Given the description of an element on the screen output the (x, y) to click on. 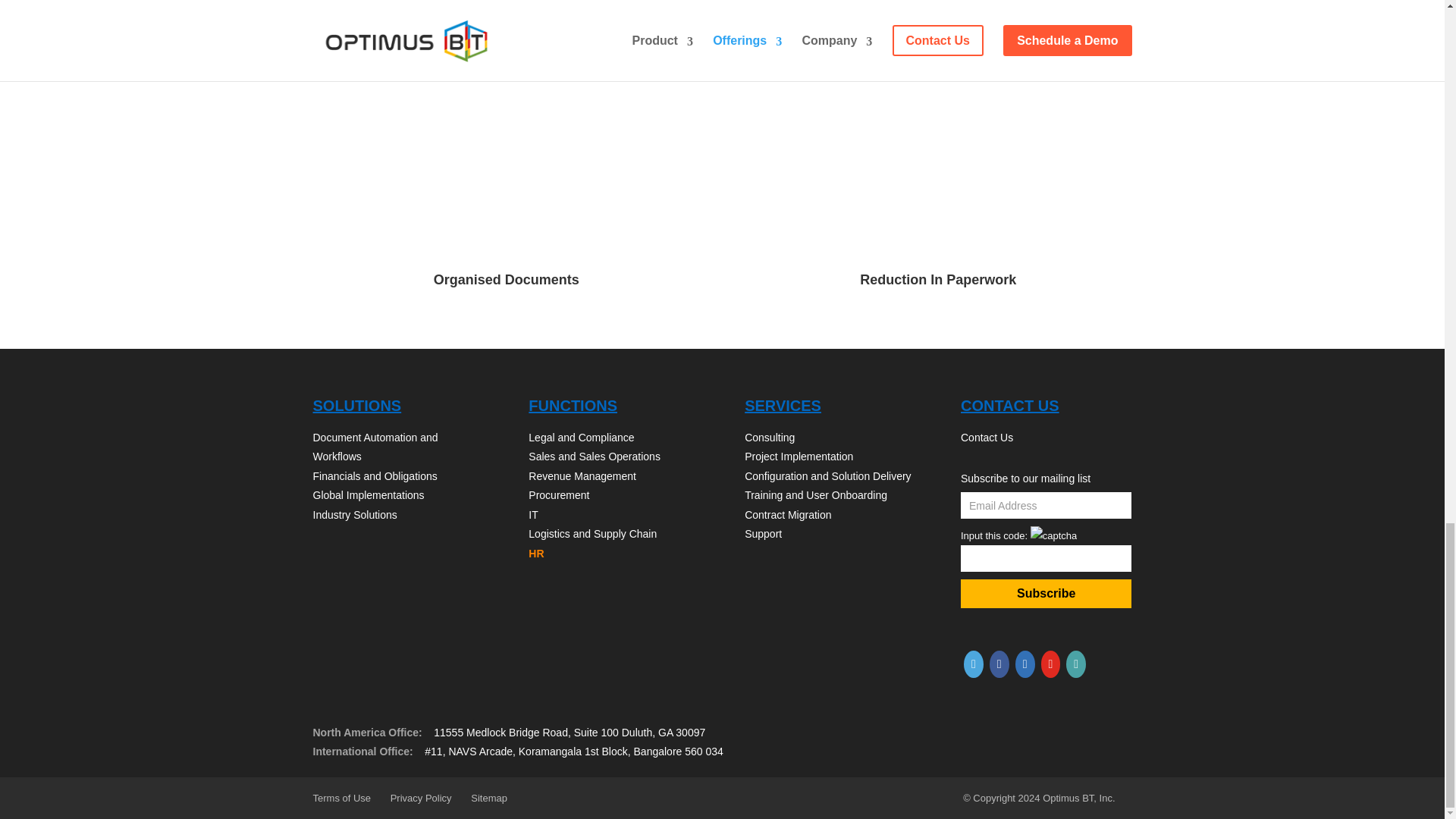
Subscribe (1045, 593)
